Given the description of an element on the screen output the (x, y) to click on. 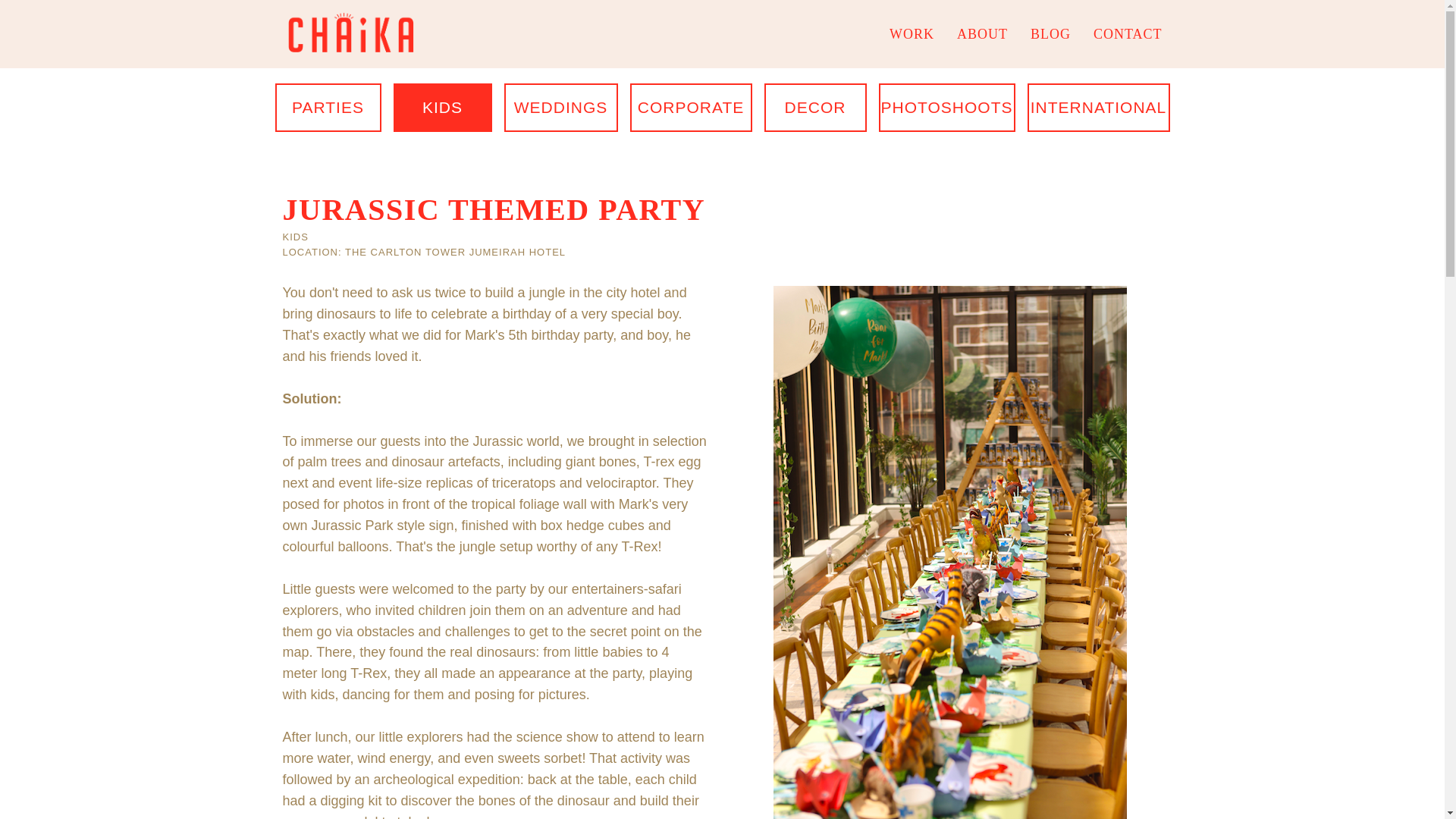
PHOTOSHOOTS (945, 107)
KIDS (442, 107)
PARTIES (327, 107)
BLOG (1050, 32)
WEDDINGS (560, 107)
WORK (911, 32)
ABOUT (981, 32)
CONTACT (1127, 32)
DECOR (815, 107)
INTERNATIONAL (1097, 107)
CORPORATE (689, 107)
